Given the description of an element on the screen output the (x, y) to click on. 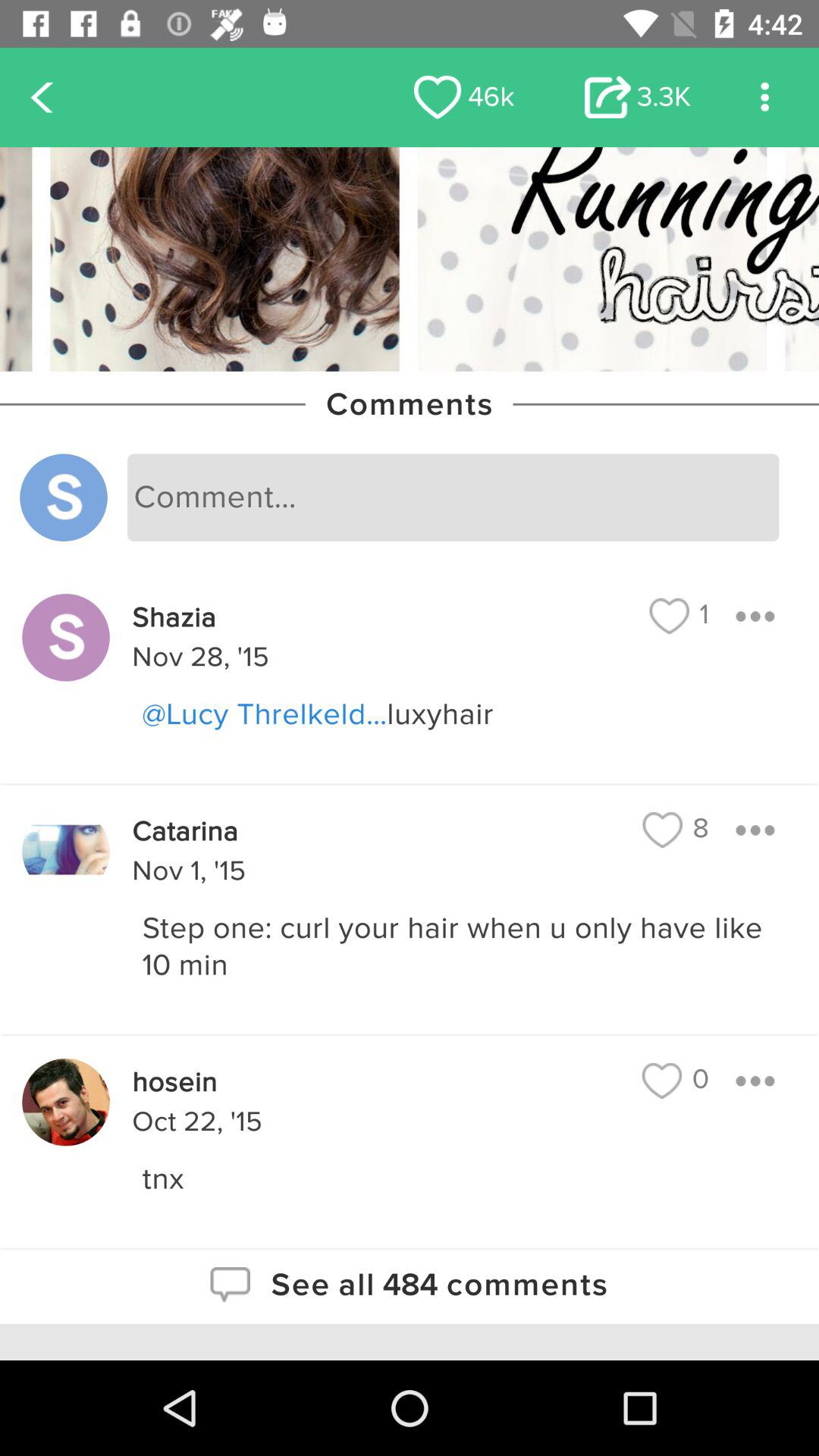
write a comment (453, 497)
